Given the description of an element on the screen output the (x, y) to click on. 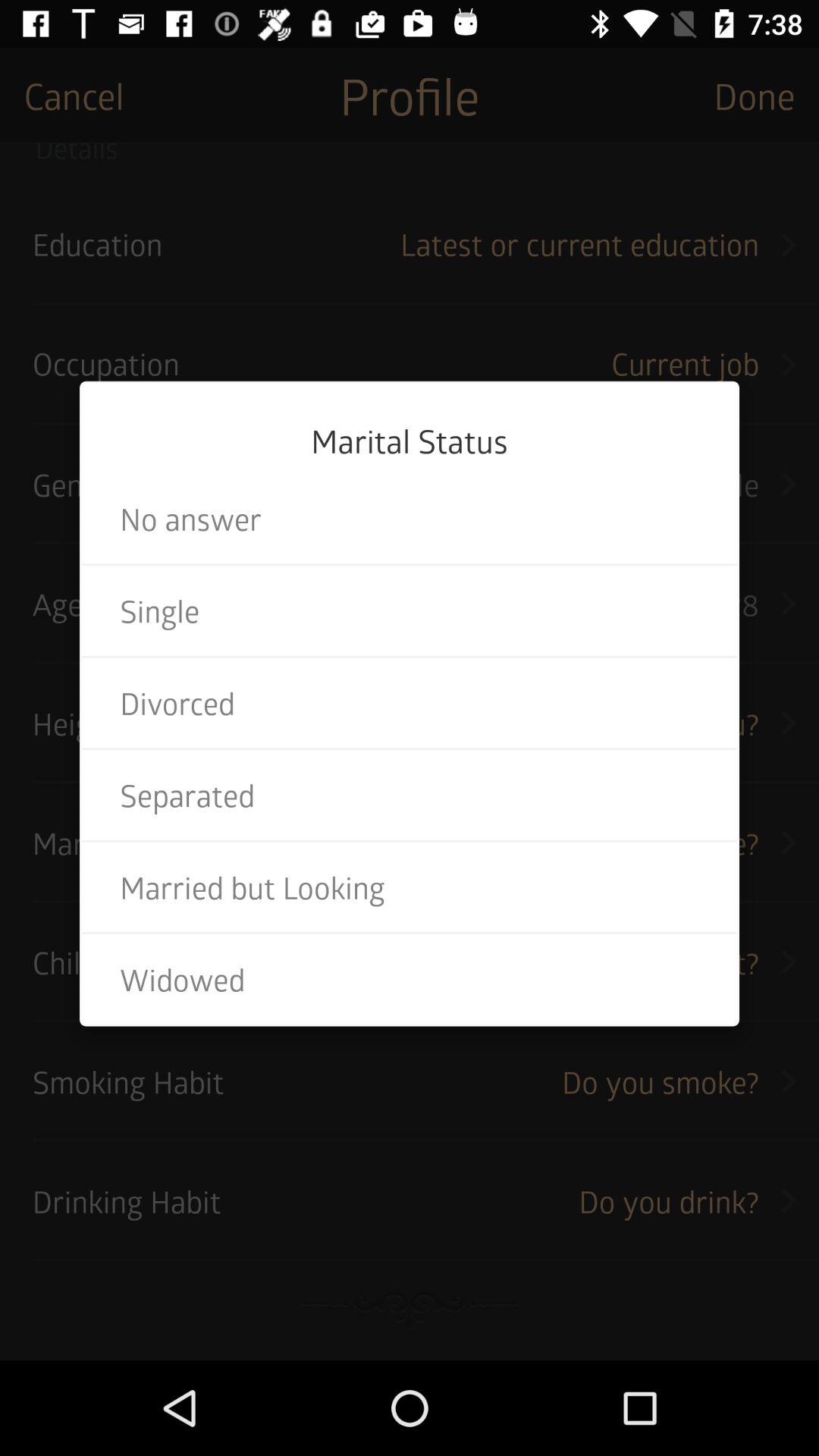
turn on the married but looking (409, 887)
